Given the description of an element on the screen output the (x, y) to click on. 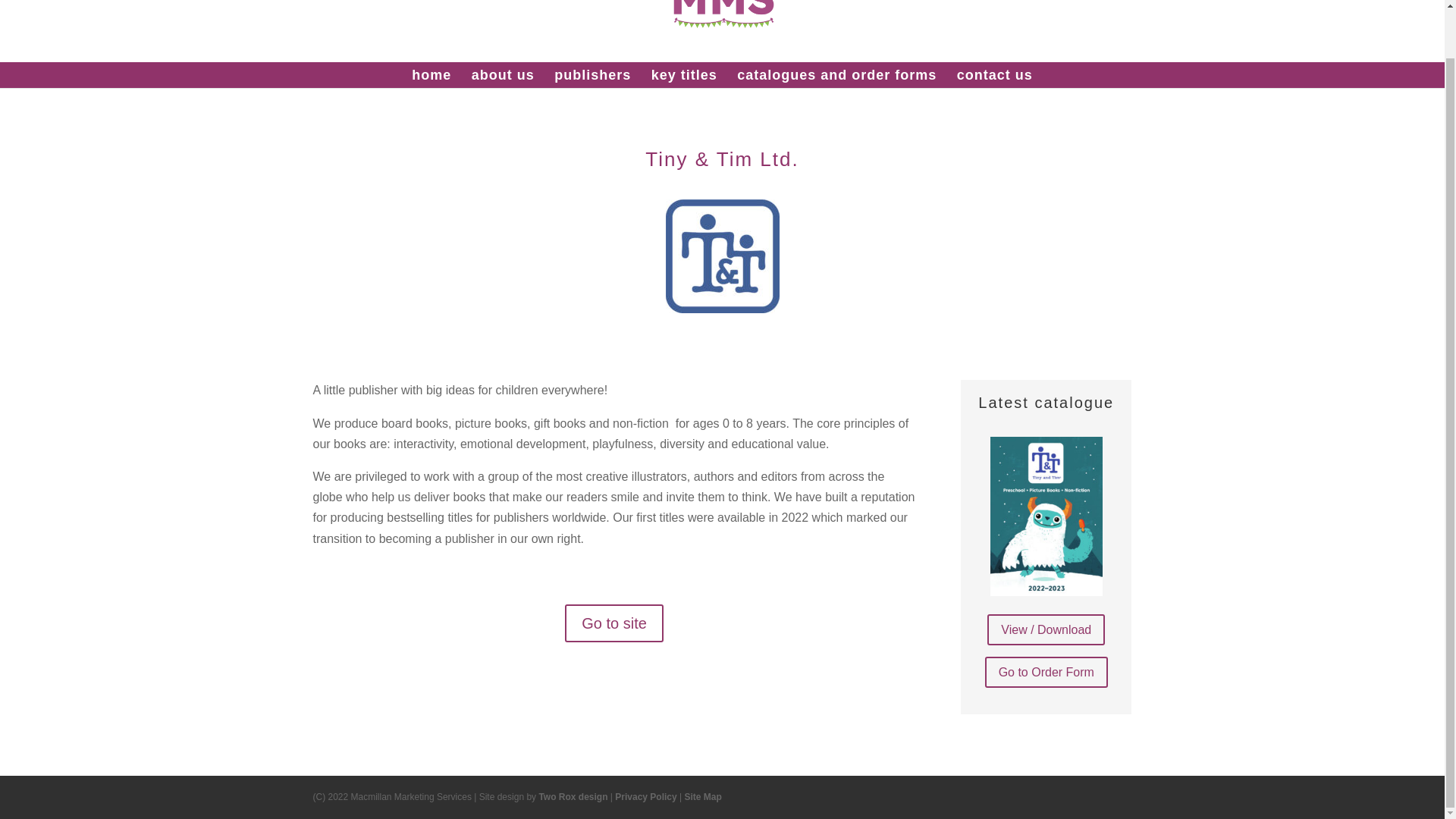
Go to site (613, 623)
publishers (592, 74)
about us (502, 74)
contact us (994, 74)
Two Rox design (572, 796)
Privacy Policy (645, 796)
Site Map (703, 796)
key titles (683, 74)
Go to Order Form (1046, 671)
home (431, 74)
